Given the description of an element on the screen output the (x, y) to click on. 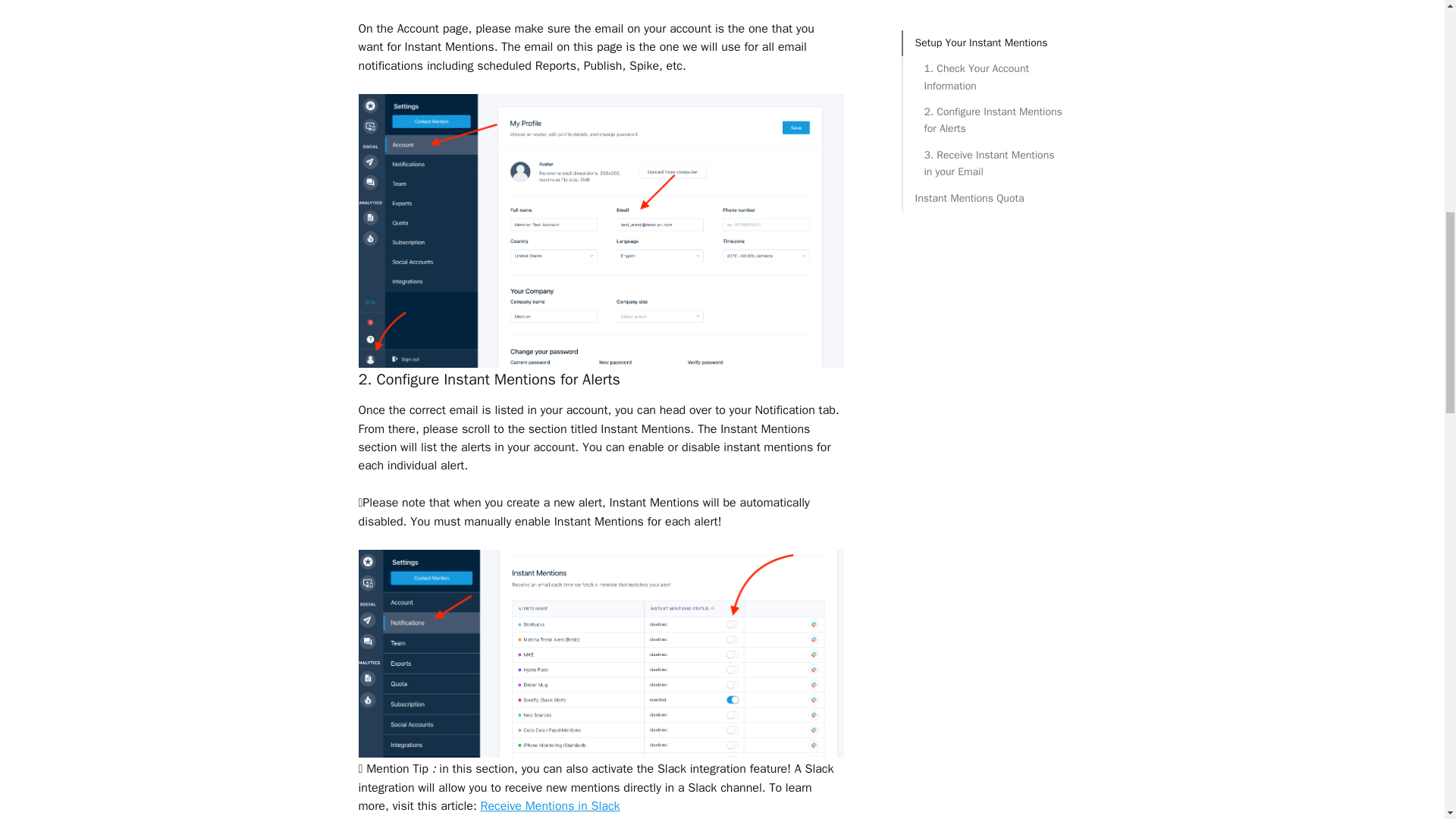
Receive Mentions in Slack (550, 806)
